Given the description of an element on the screen output the (x, y) to click on. 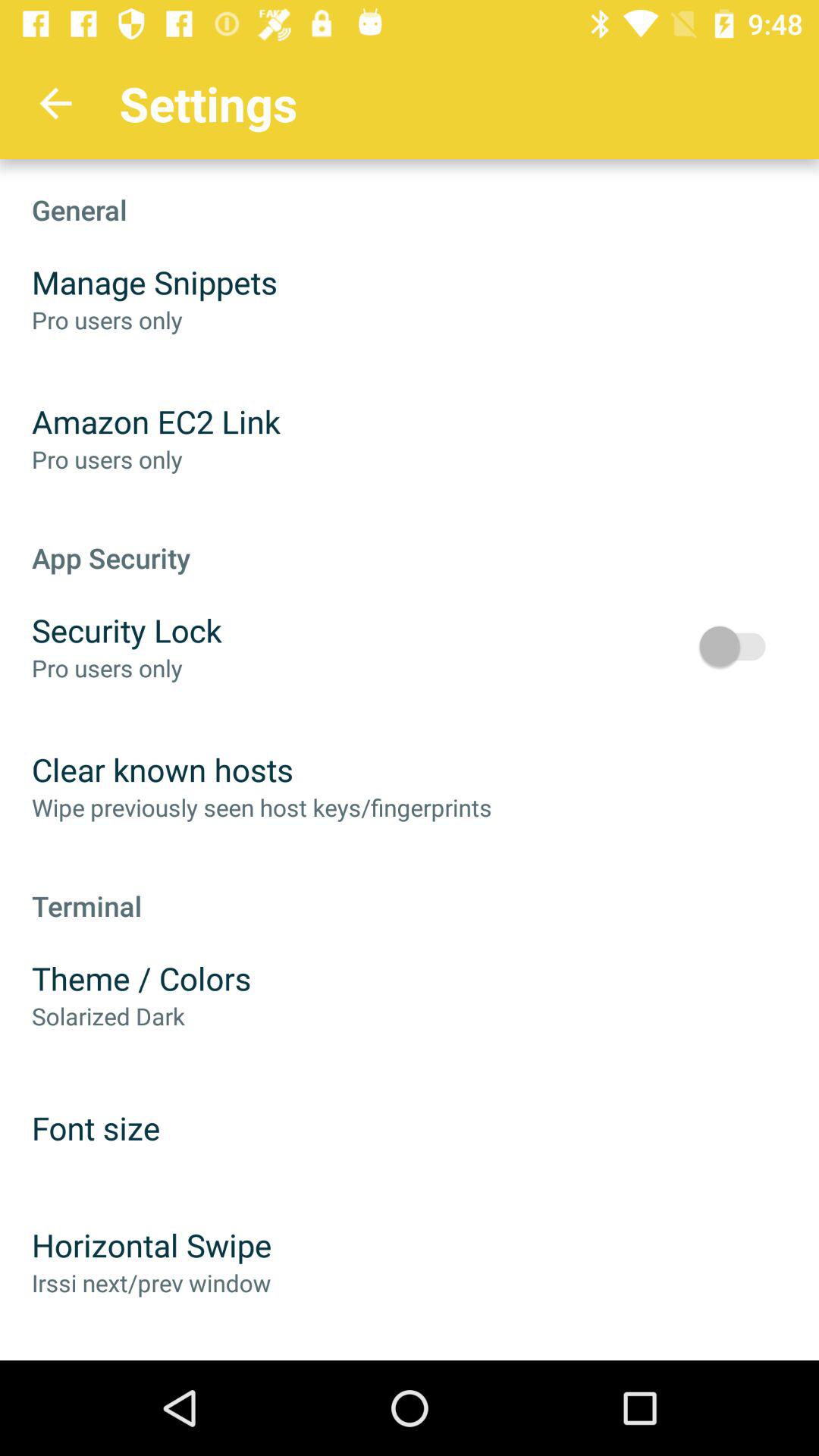
press the icon below the app security item (739, 646)
